Given the description of an element on the screen output the (x, y) to click on. 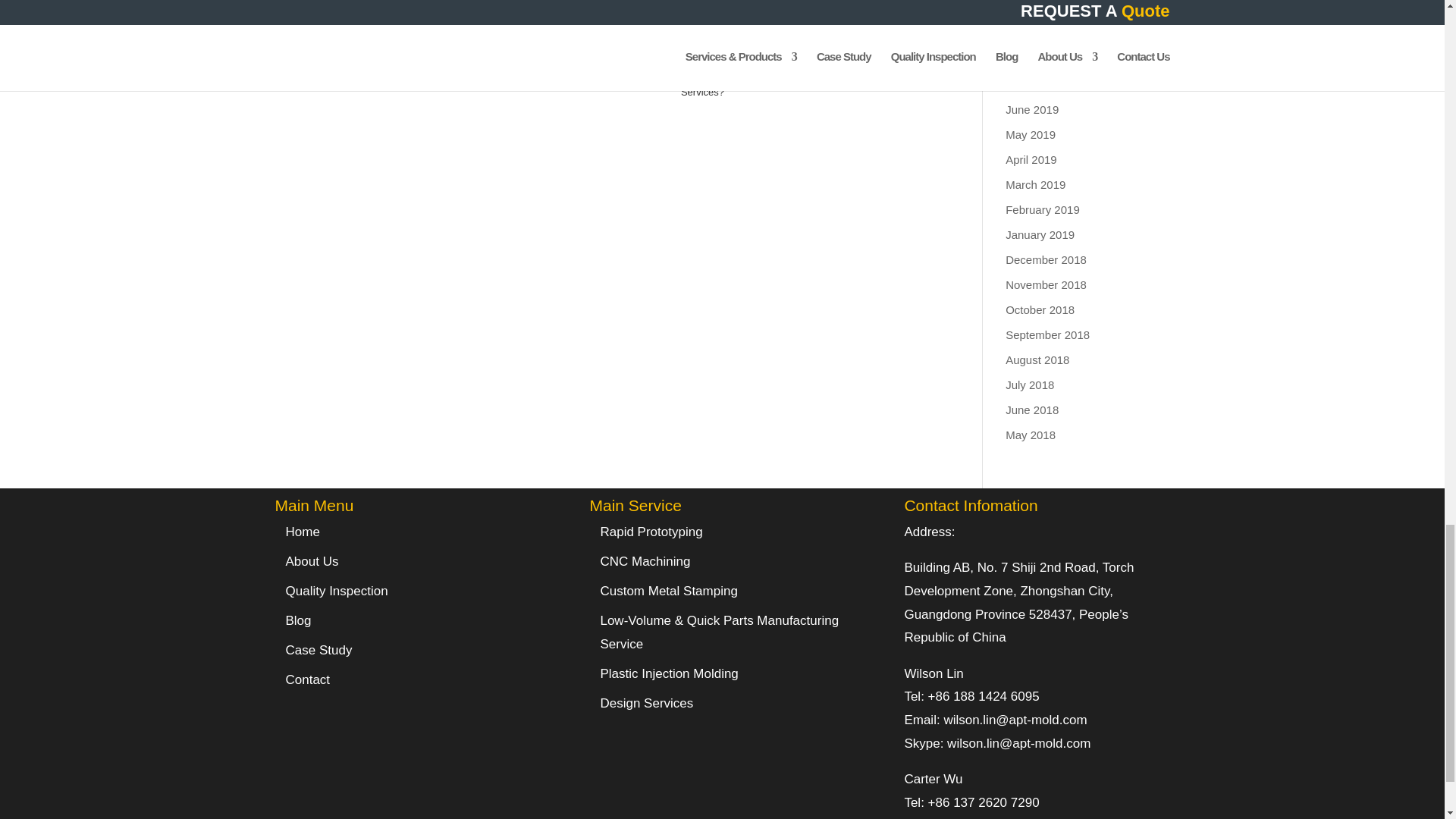
4 Causes for Broken Cutter on CNC Machines (336, 55)
What Are the Benefits of CNC Machines? (580, 55)
